Given the description of an element on the screen output the (x, y) to click on. 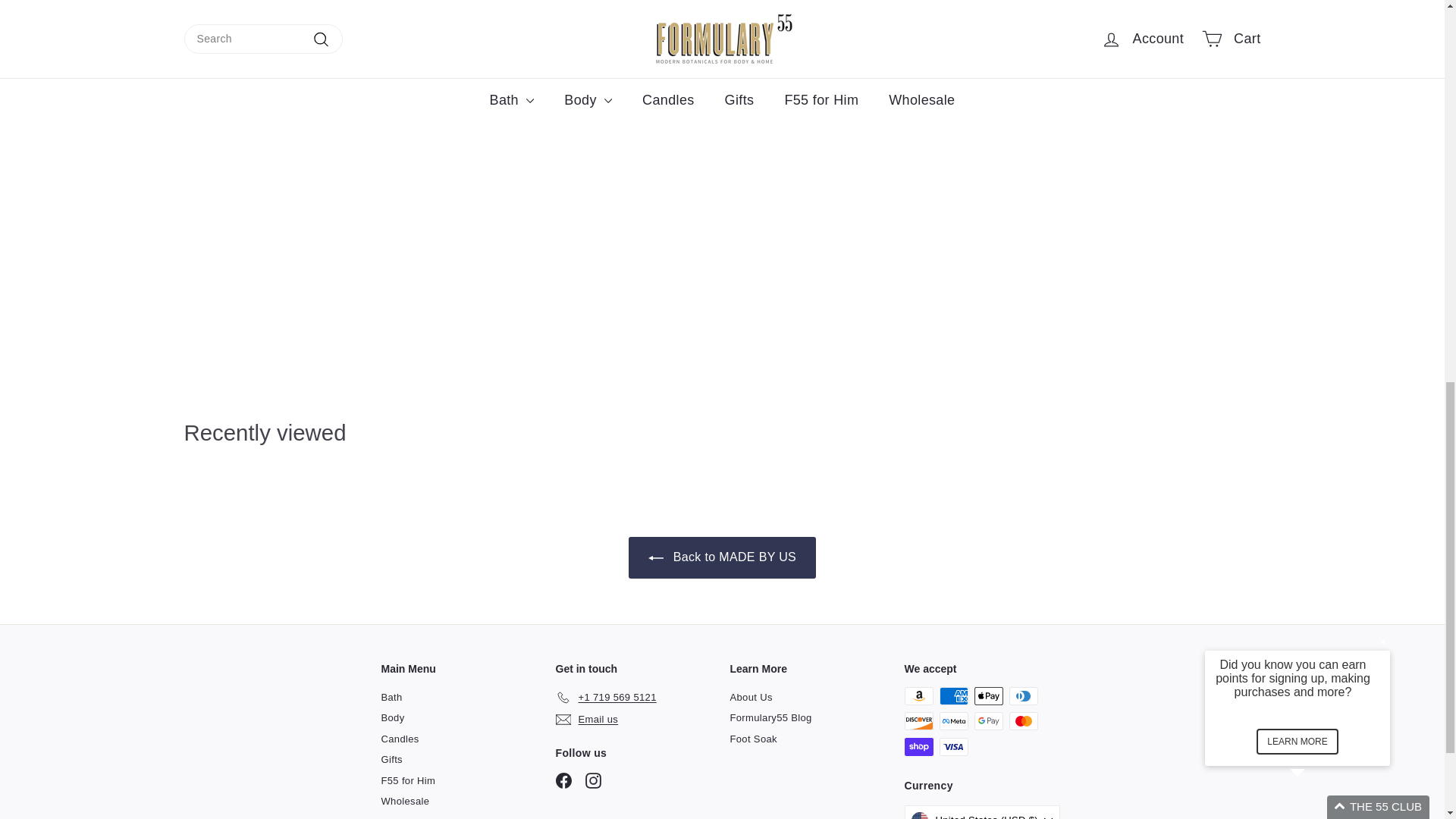
instagram (593, 780)
Amazon (918, 696)
Apple Pay (988, 696)
American Express (953, 696)
Diners Club (1022, 696)
icon-left-arrow (655, 557)
Formulary 55 on Instagram (593, 780)
Formulary 55 on Facebook (562, 780)
